Given the description of an element on the screen output the (x, y) to click on. 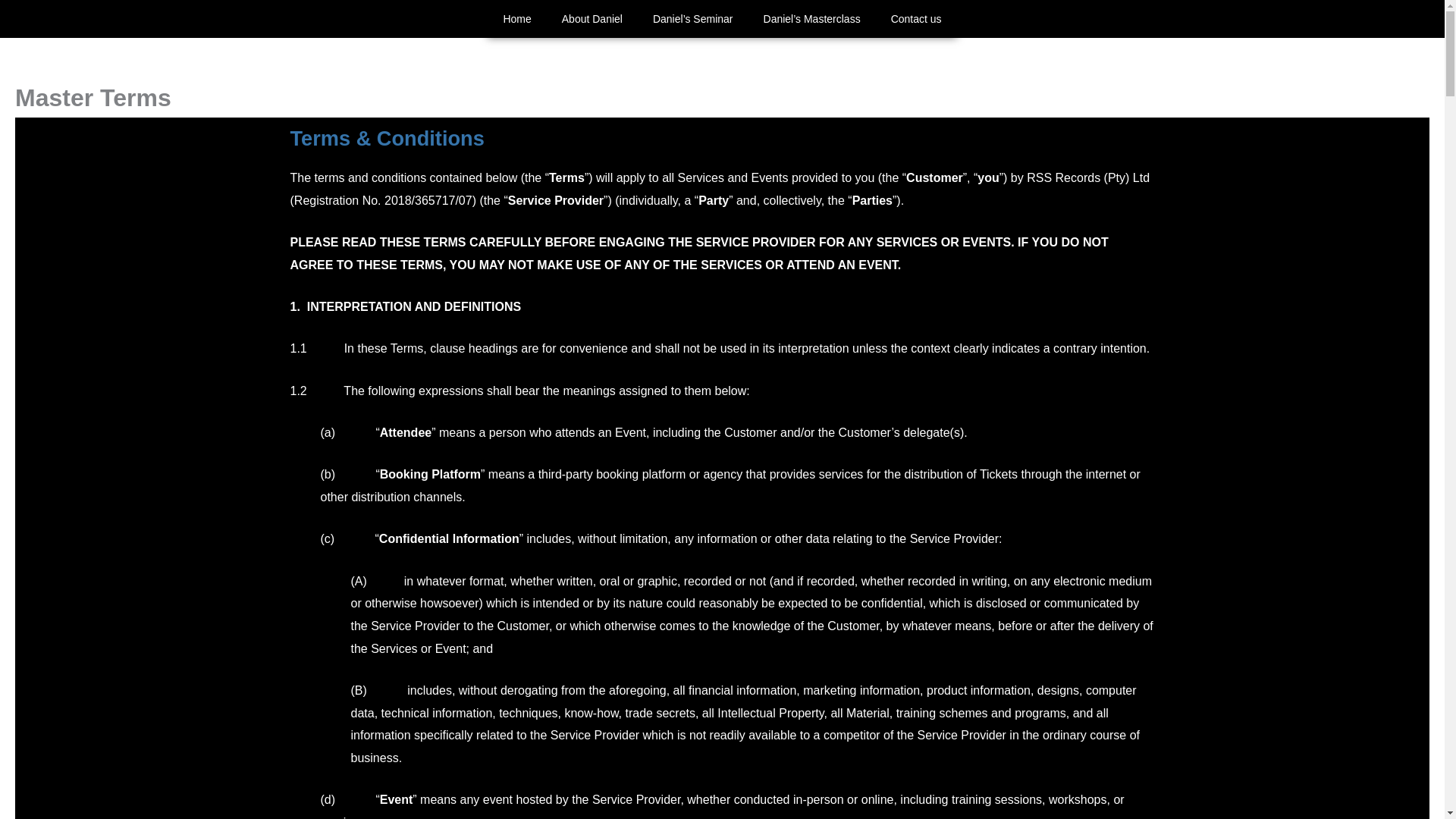
About Daniel (592, 18)
Home (516, 18)
Contact us (916, 18)
